Given the description of an element on the screen output the (x, y) to click on. 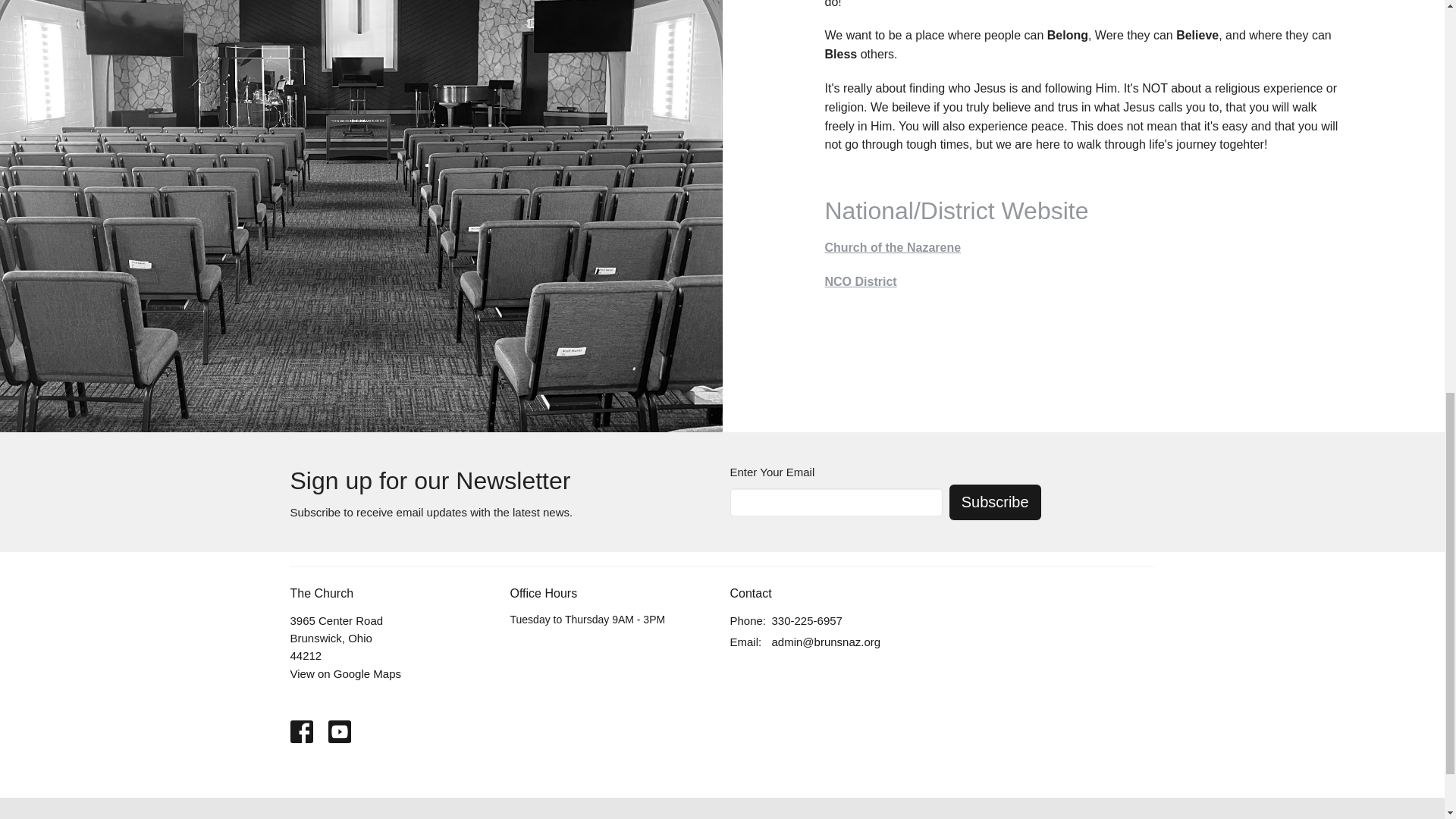
View on Google Maps (344, 673)
NCO District (860, 281)
330-225-6957 (807, 620)
Church of the Nazarene (892, 246)
translation missing: en.ui.email (743, 641)
Subscribe (995, 502)
